Given the description of an element on the screen output the (x, y) to click on. 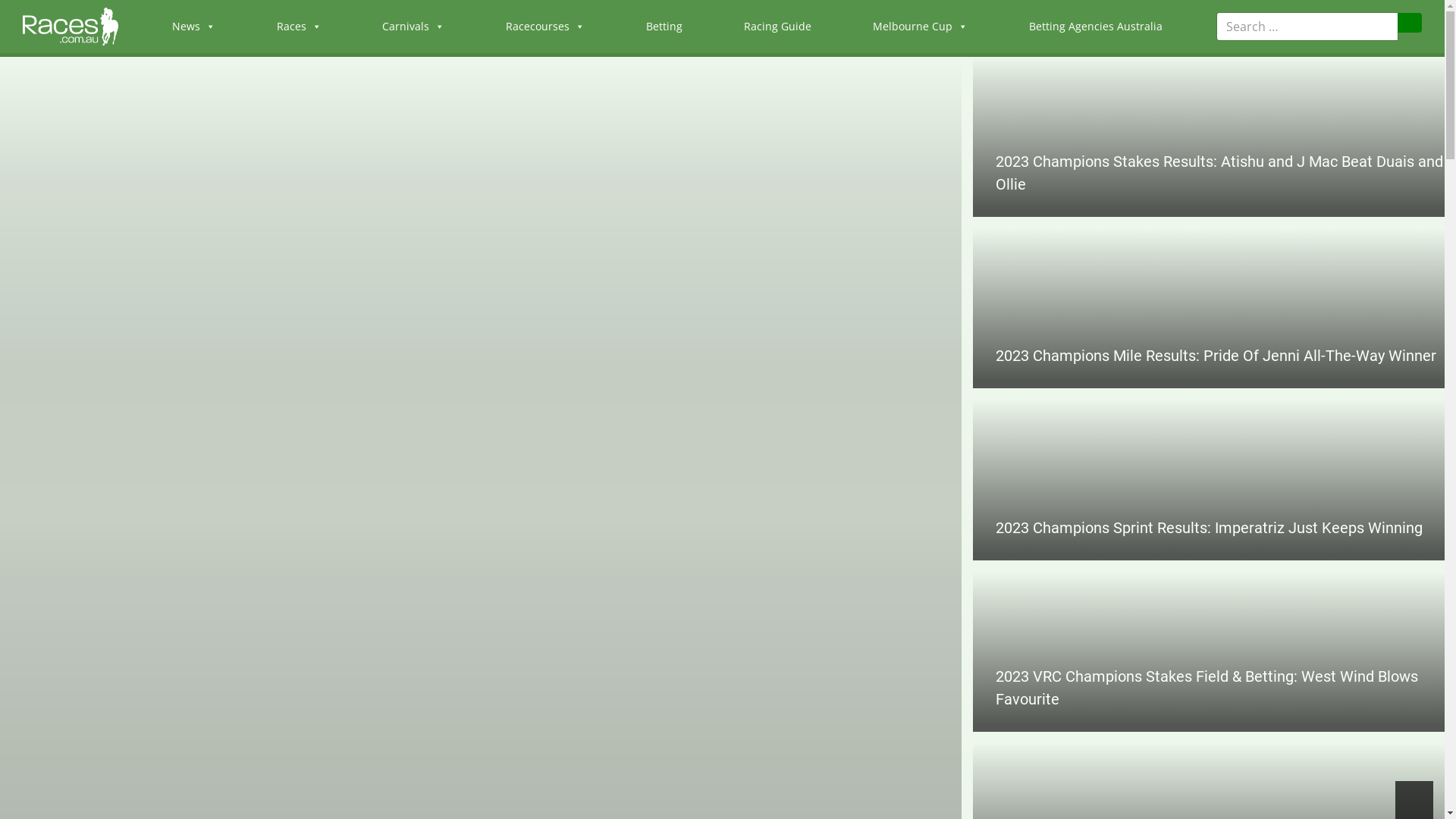
News Element type: text (193, 26)
Races Element type: text (299, 26)
Betting Agencies Australia Element type: text (1095, 26)
Carnivals Element type: text (412, 26)
Racecourses Element type: text (545, 26)
Melbourne Cup Element type: text (920, 26)
Search Element type: text (1409, 22)
2023 Champions Sprint Results: Imperatriz Just Keeps Winning Element type: text (1208, 527)
Racing Guide Element type: text (777, 26)
Betting Element type: text (664, 26)
